Given the description of an element on the screen output the (x, y) to click on. 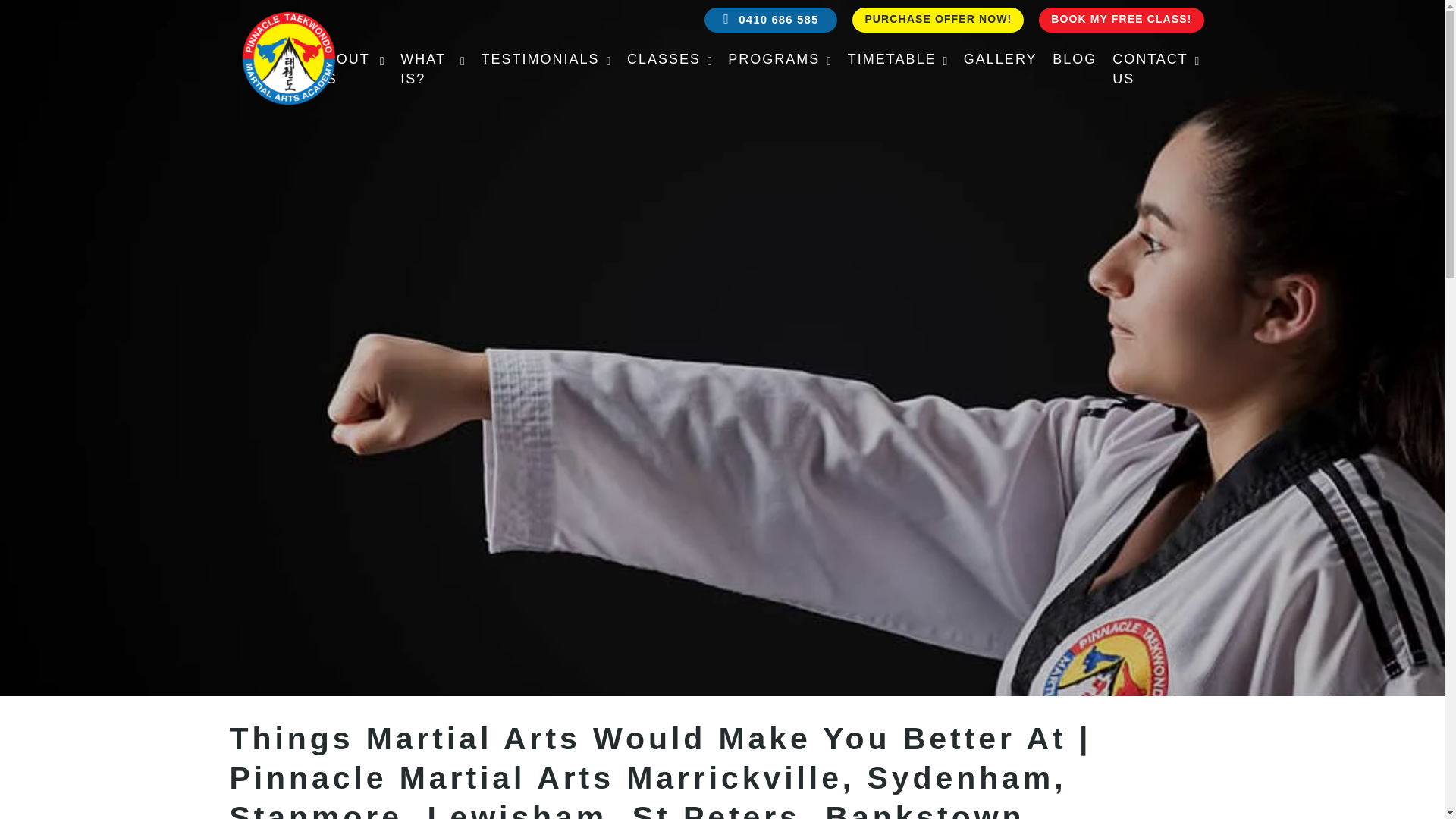
Martial Arts Classes In Marrickville Chester Hill (349, 68)
BOOK MY FREE CLASS! (1121, 19)
0410 686 585 (770, 19)
CLASSES (669, 58)
PROGRAMS (779, 58)
WHAT IS? (432, 68)
ABOUT US (349, 68)
TIMETABLE (897, 58)
TESTIMONIALS (545, 58)
PURCHASE OFFER NOW! (937, 19)
